Given the description of an element on the screen output the (x, y) to click on. 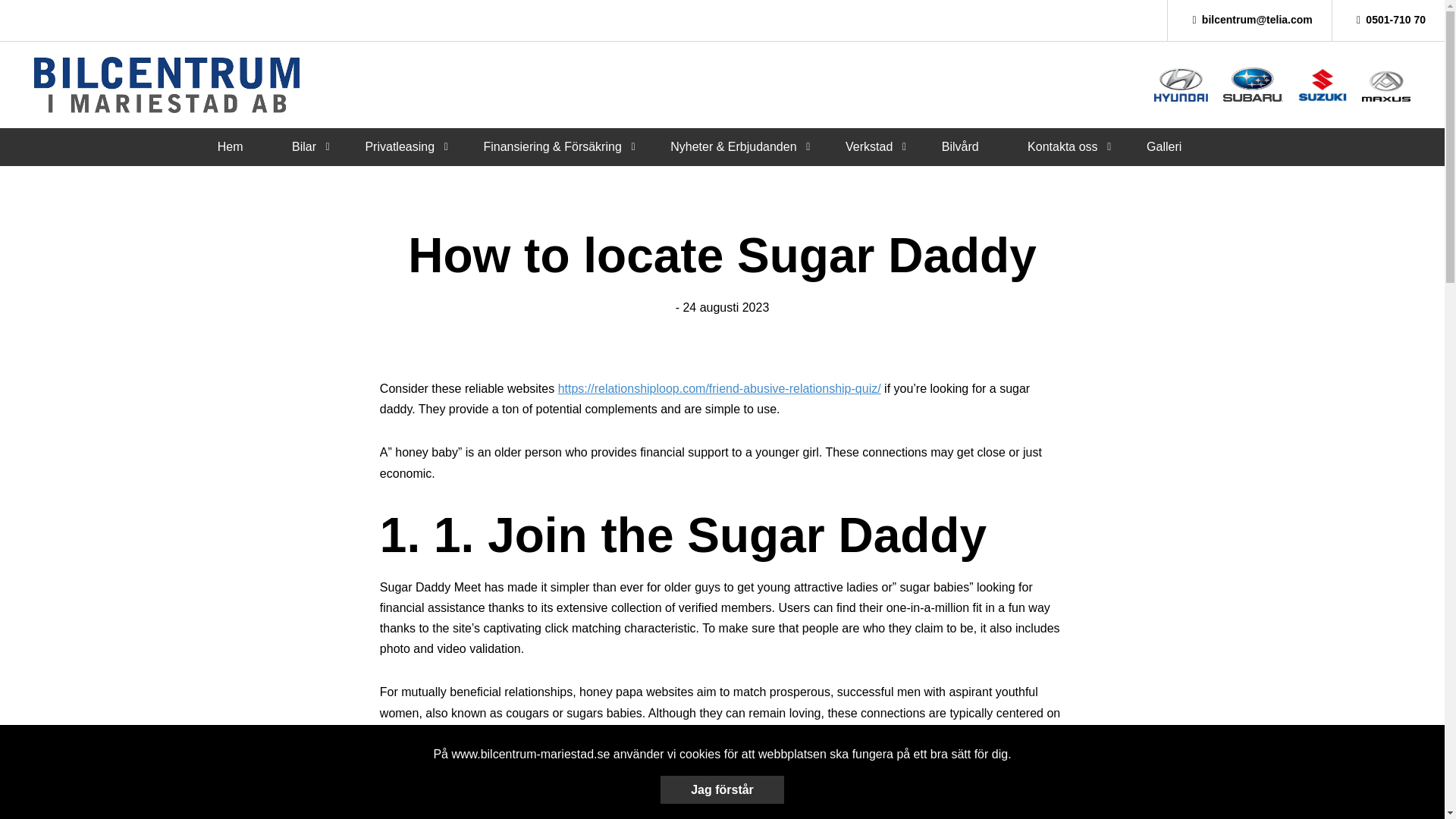
Privatleasing (399, 146)
Hem (229, 146)
Bilcentrum i Mariestad AB (166, 84)
Verkstad (868, 146)
Bilar (303, 146)
